Given the description of an element on the screen output the (x, y) to click on. 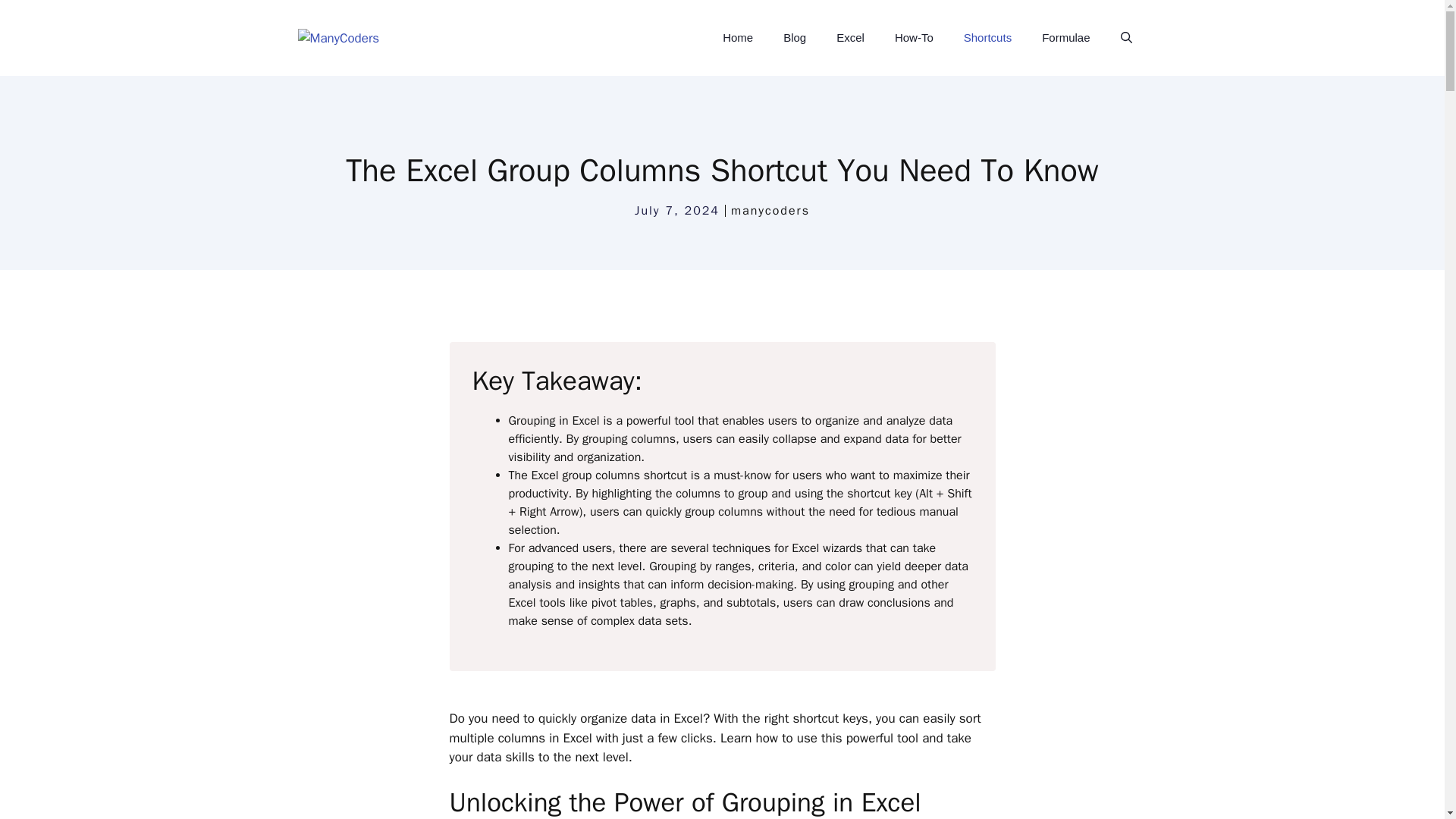
Formulae (1065, 37)
Blog (794, 37)
How-To (914, 37)
Shortcuts (987, 37)
Excel (850, 37)
Home (737, 37)
